Given the description of an element on the screen output the (x, y) to click on. 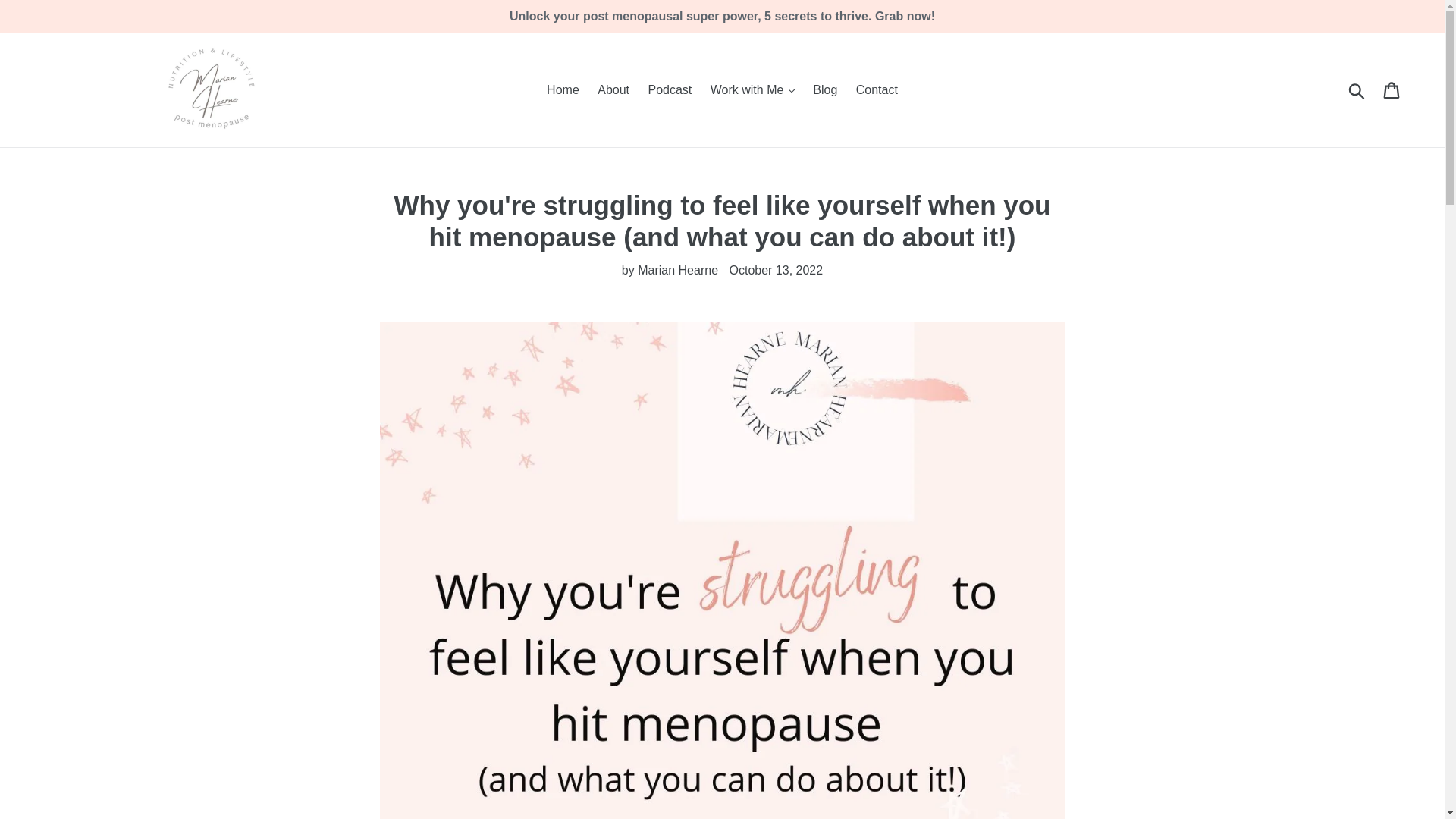
Contact (876, 89)
Blog (824, 89)
About (613, 89)
Cart (1392, 90)
Podcast (669, 89)
Home (562, 89)
Submit (1357, 90)
